Given the description of an element on the screen output the (x, y) to click on. 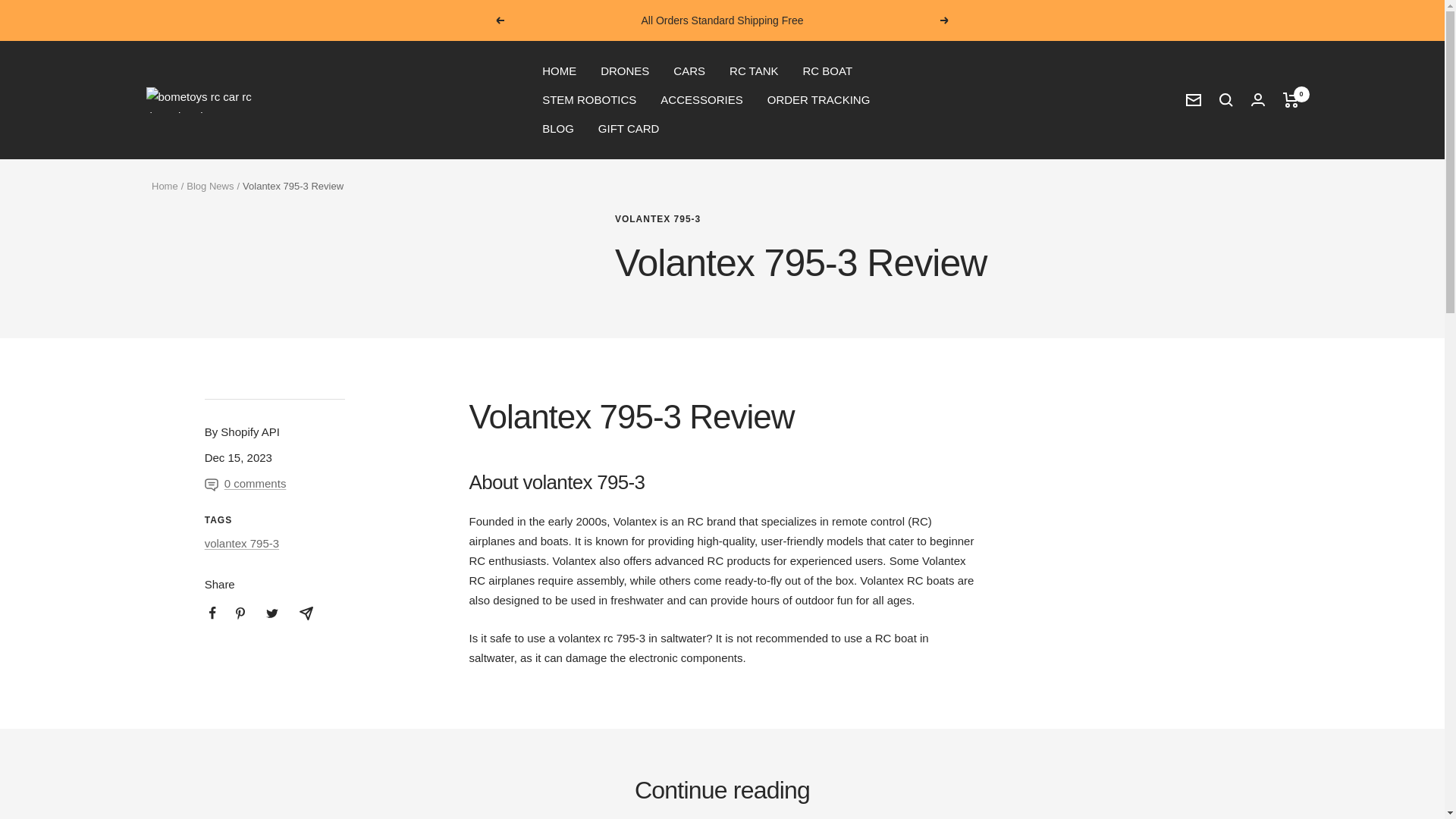
Next (944, 20)
DRONES (624, 71)
CARS (688, 71)
0 (1290, 99)
Newsletter (1193, 100)
bometoys (202, 99)
RC BOAT (826, 71)
BLOG (557, 128)
ACCESSORIES (701, 99)
STEM ROBOTICS (588, 99)
GIFT CARD (628, 128)
Previous (499, 20)
ORDER TRACKING (818, 99)
RC TANK (753, 71)
HOME (558, 71)
